Given the description of an element on the screen output the (x, y) to click on. 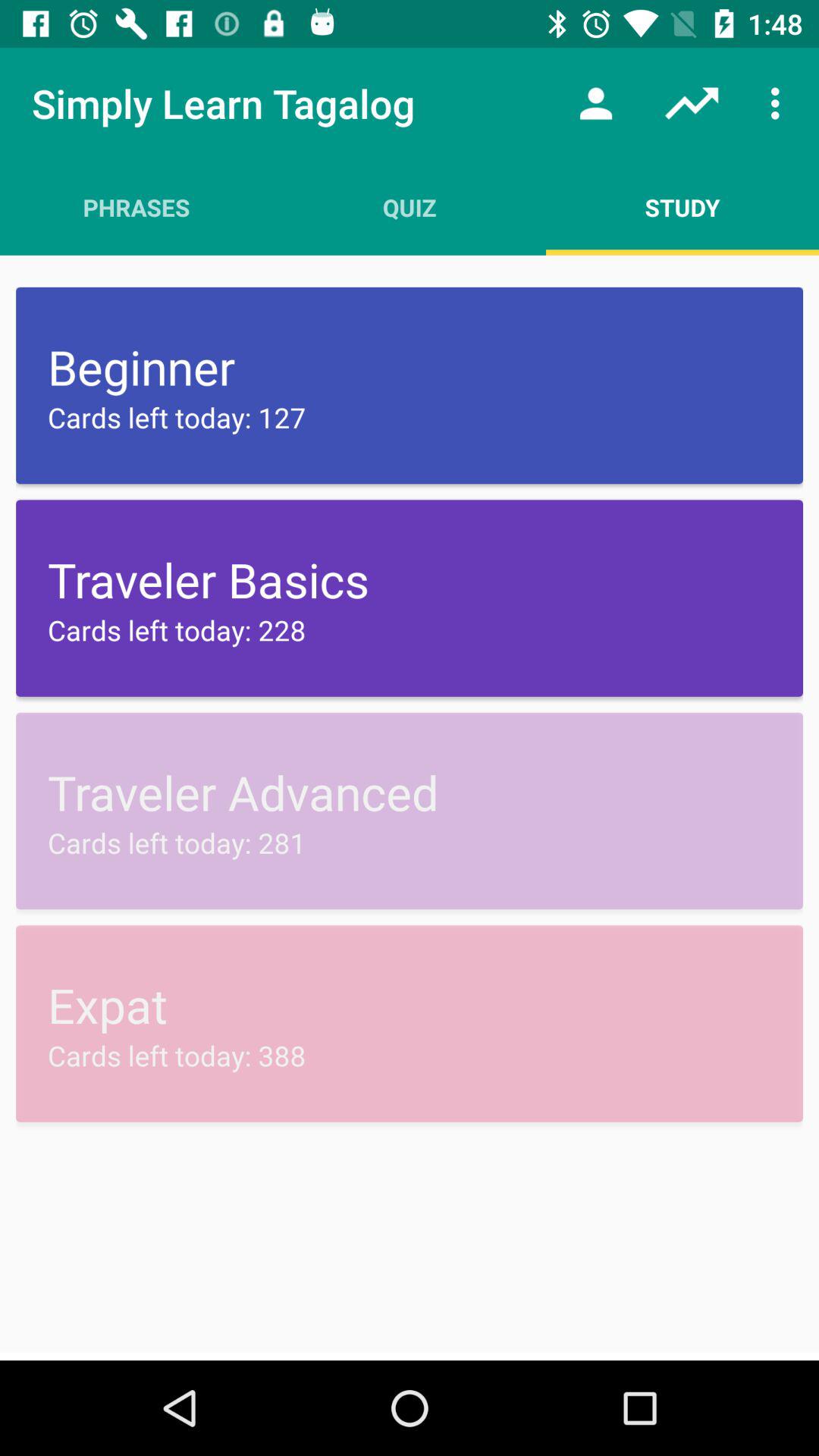
choose phrases app (136, 207)
